Given the description of an element on the screen output the (x, y) to click on. 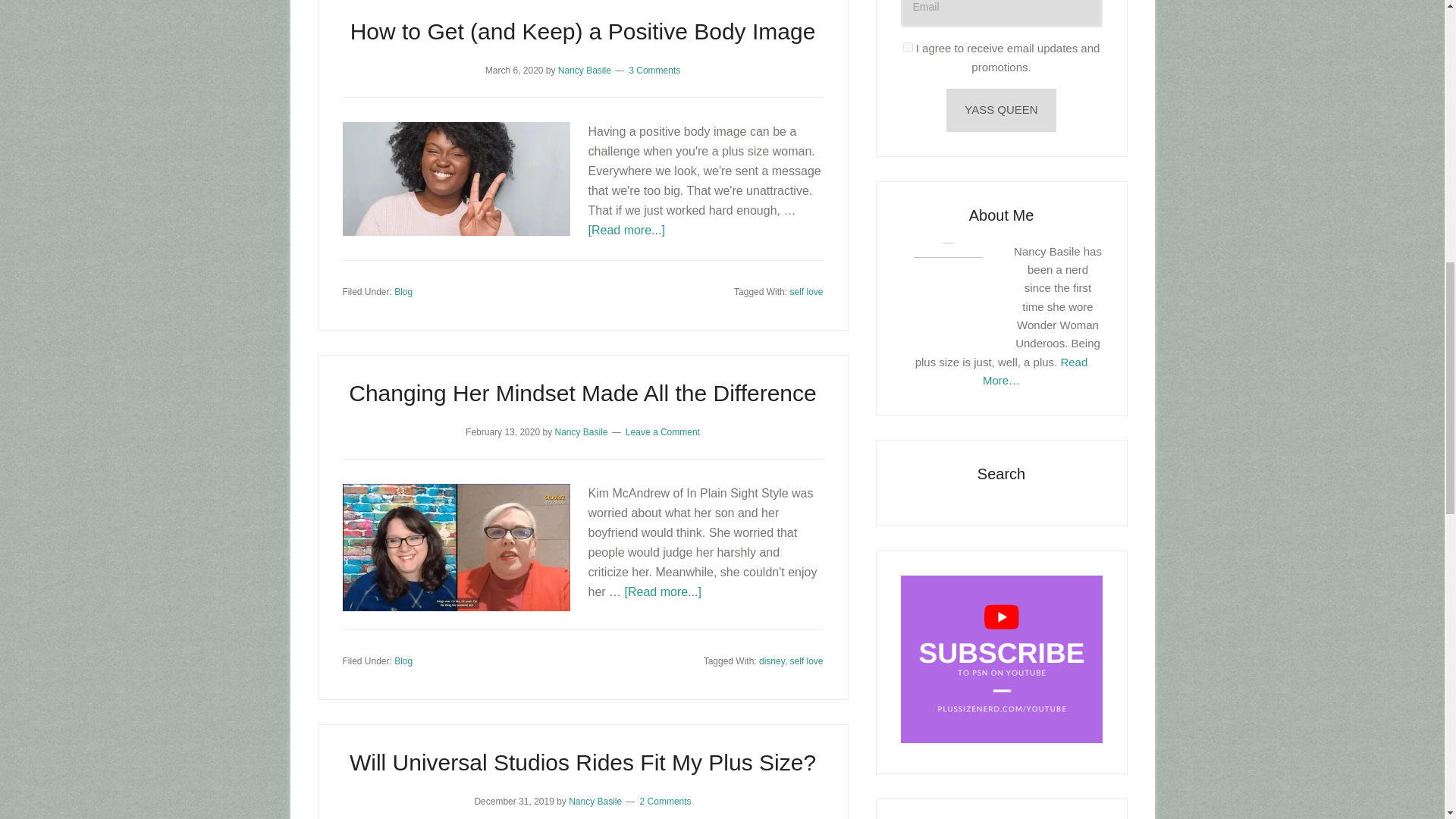
1 (907, 47)
